Given the description of an element on the screen output the (x, y) to click on. 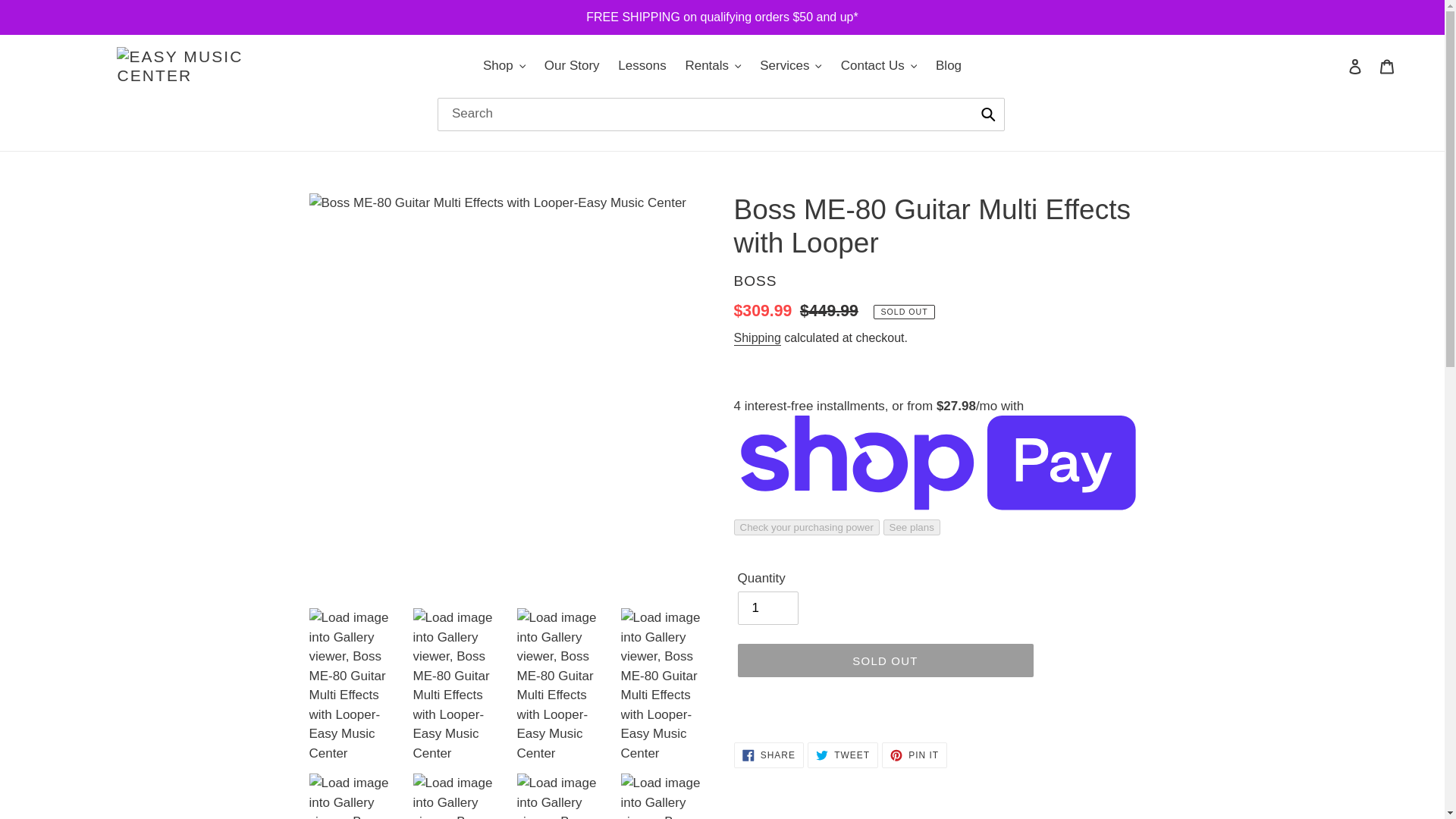
Our Story (572, 65)
Shop (504, 65)
1 (766, 607)
